Given the description of an element on the screen output the (x, y) to click on. 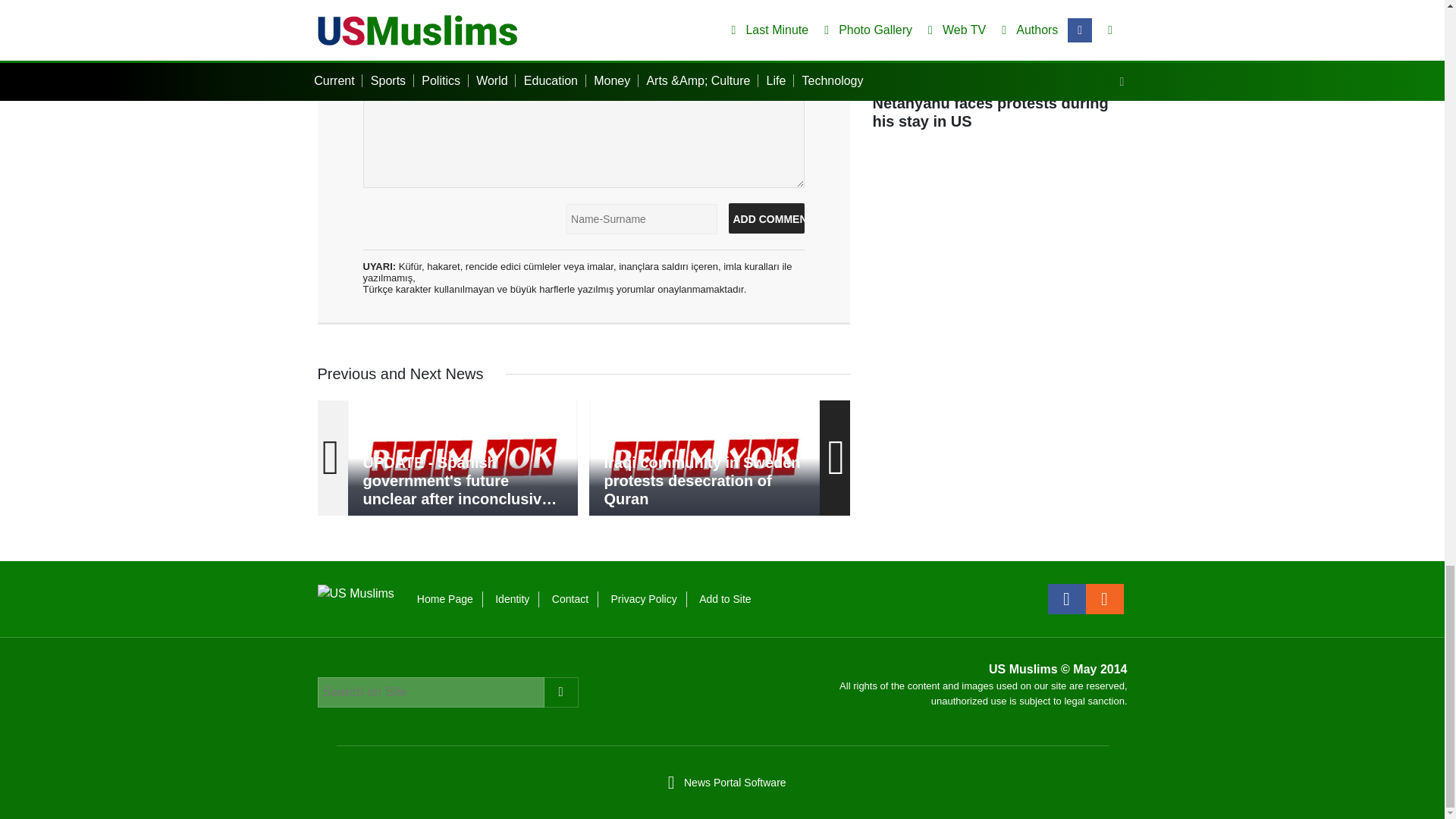
Privacy Policy (644, 598)
ADD COMMENT (765, 218)
Add to Site (724, 598)
Contact (569, 598)
Home Page (444, 598)
Identity (512, 598)
ADD COMMENT (765, 218)
Add to Site (724, 598)
Iraqi community in Sweden protests desecration of Quran (704, 457)
Privacy Policy (644, 598)
Contact (569, 598)
Netanyahu faces protests during his stay in US (999, 72)
US Muslims (355, 592)
Home Page (444, 598)
